Given the description of an element on the screen output the (x, y) to click on. 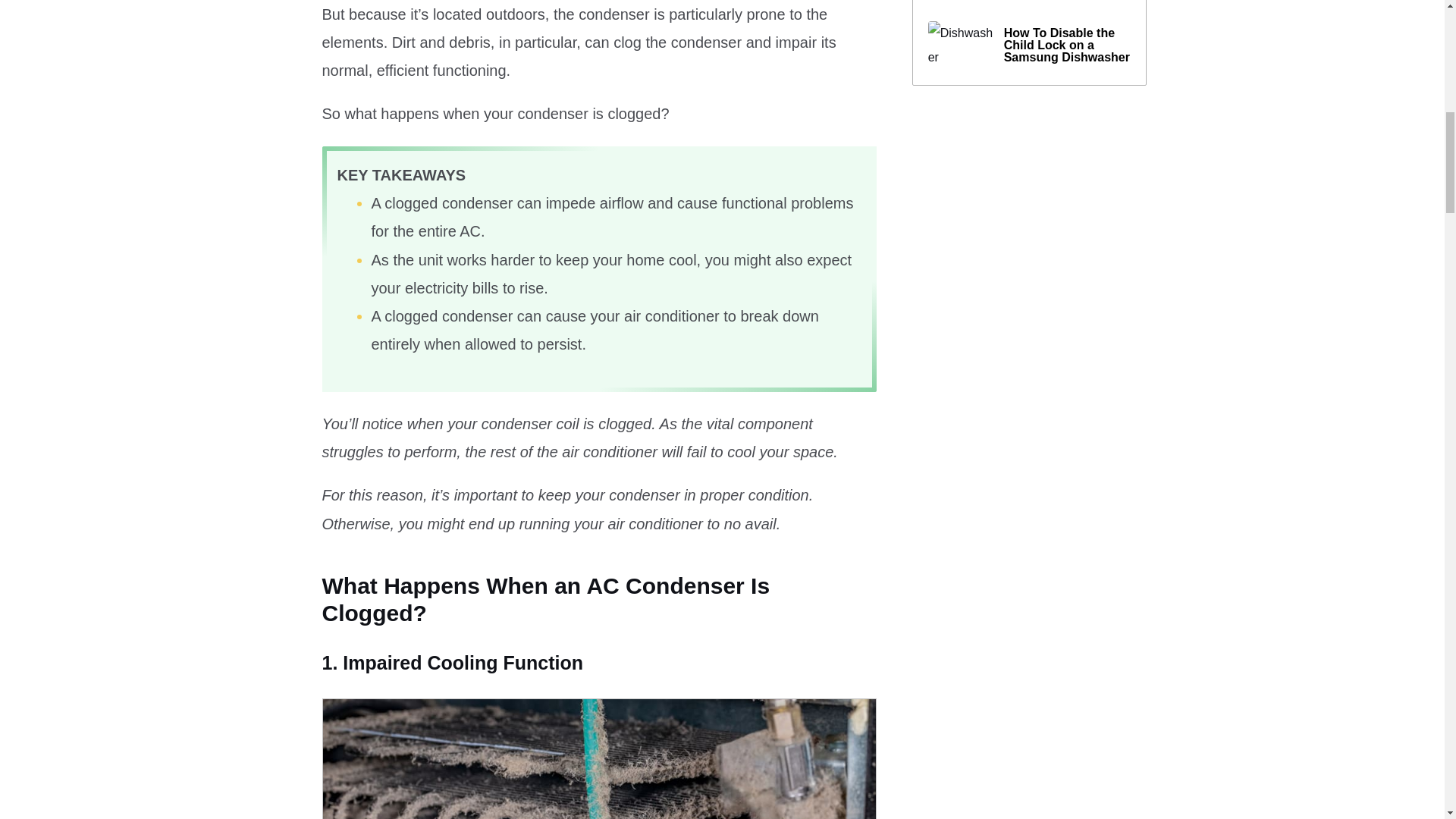
How To Disable The Child Lock On A Samsung Dishwasher 12 (961, 45)
Where Is The Charcoal Filter On A Ge Microwave? 11 (961, 2)
Impaired Cooling Function (598, 758)
